Given the description of an element on the screen output the (x, y) to click on. 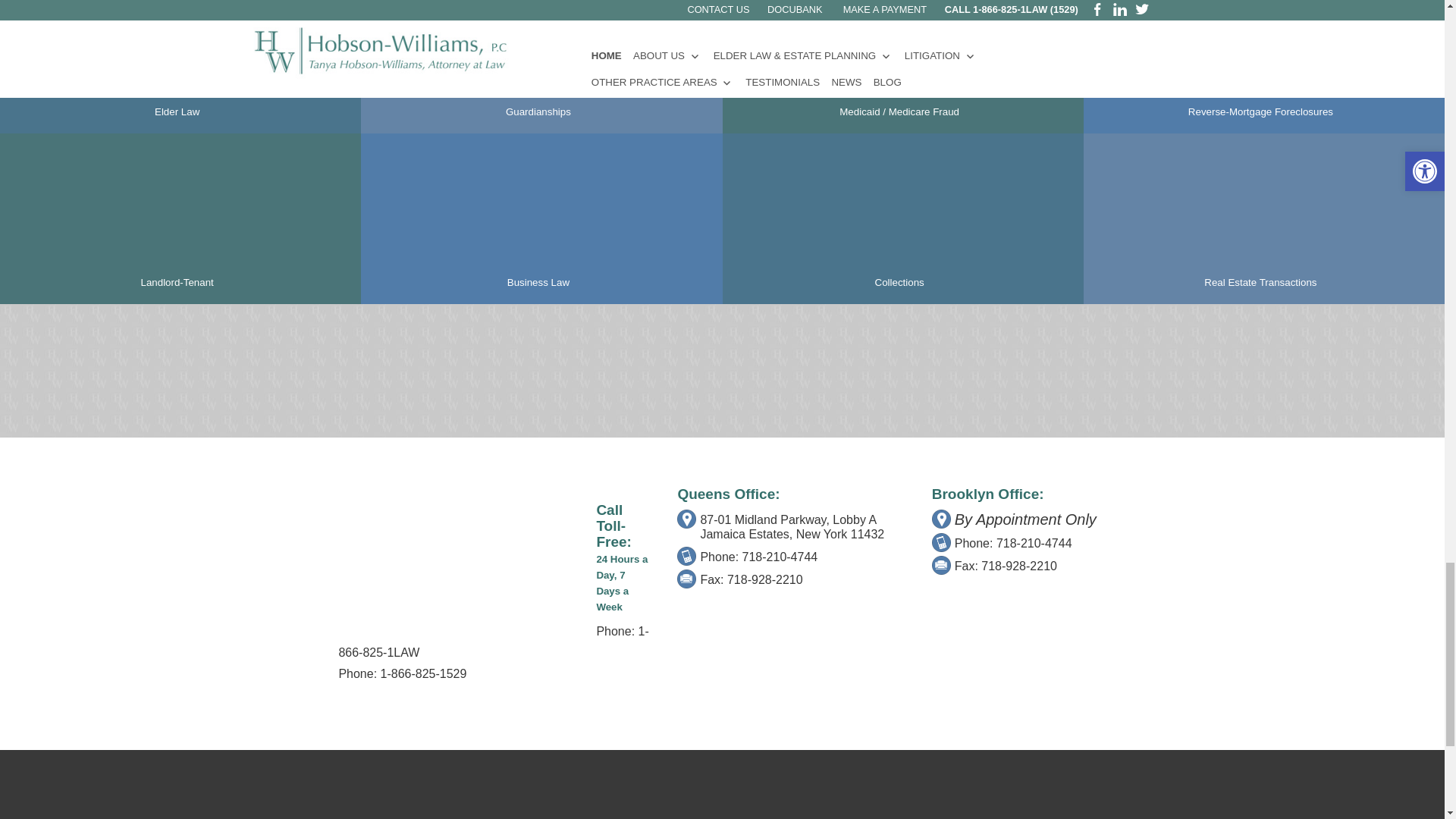
Collections Attorney Serving Queens Bronx Brooklyn (899, 219)
Elder Law Attorney Serving Queens Bronx Brooklyn (177, 52)
Litigator of the Year (228, 372)
Long Island's 50 Top Women (490, 372)
Guardianships Attorney Serving Queens Bronx Brooklyn (538, 52)
Women-Owned Law Firm (373, 372)
Business Law Attorney Serving Queens Bronx Brooklyn (538, 219)
Landlord-Tenant Attorney Serving Queens Bronx Brooklyn (177, 219)
